Given the description of an element on the screen output the (x, y) to click on. 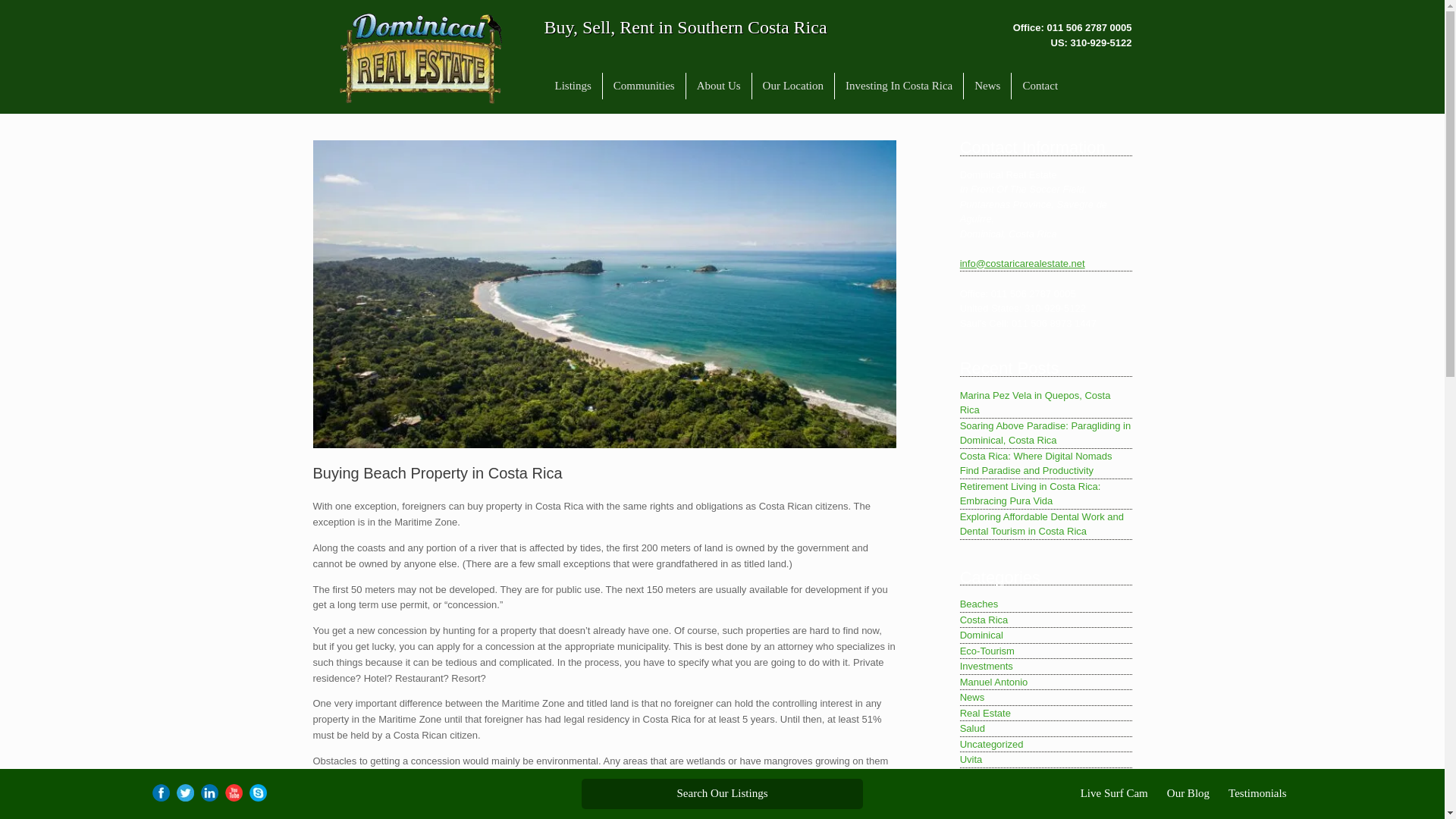
Investing In Costa Rica (898, 85)
Buying Beach Property in Costa Rica (437, 473)
Permalink to Buying Beach Property in Costa Rica (437, 473)
News (986, 85)
Marina Pez Vela in Quepos, Costa Rica (1045, 403)
Listings (572, 85)
About Us (718, 85)
Dominical Real Estate (420, 57)
Contact (1039, 85)
Our Location (793, 85)
Communities (643, 85)
